Given the description of an element on the screen output the (x, y) to click on. 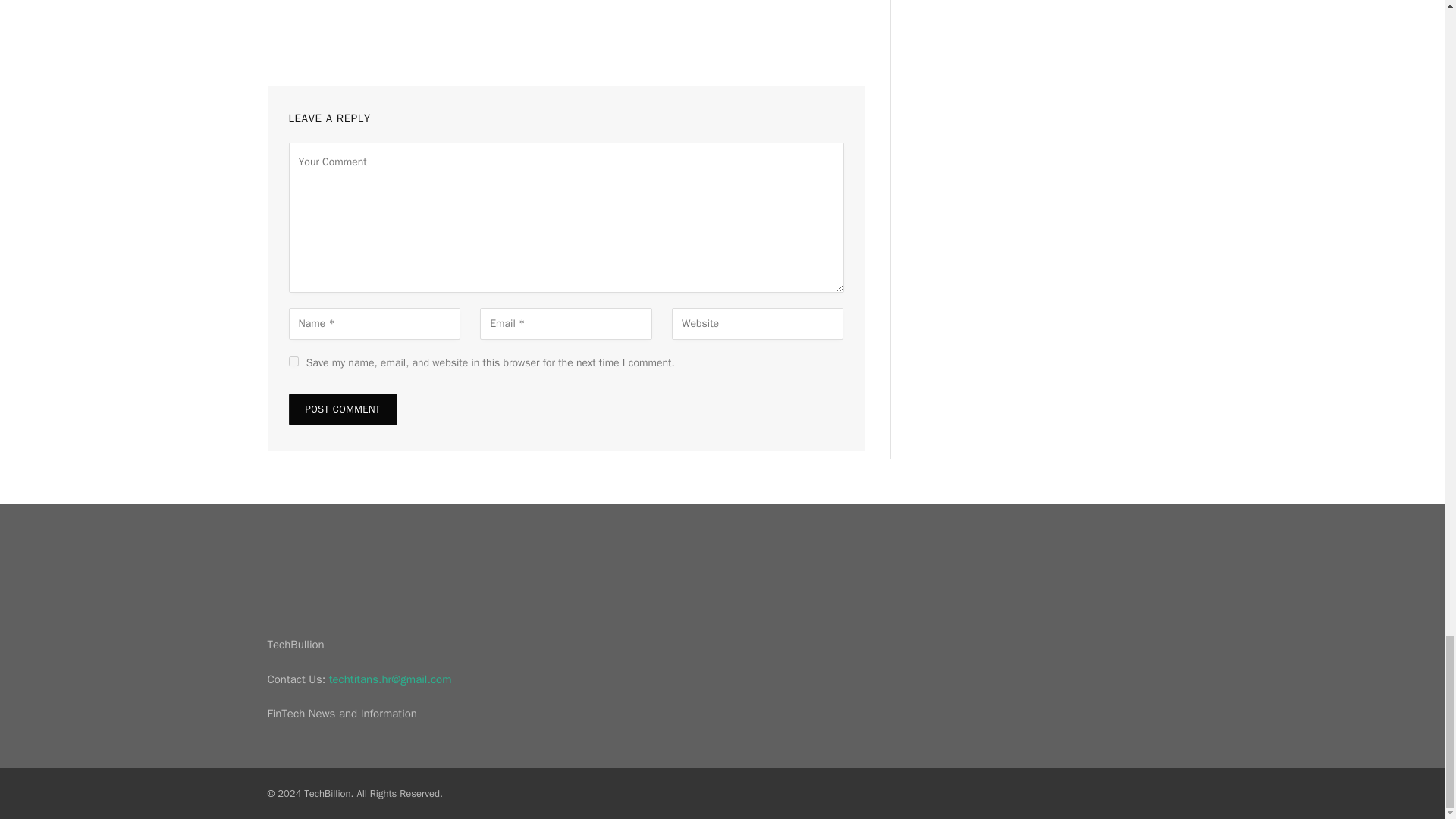
Post Comment (342, 409)
Post Comment (342, 409)
yes (293, 361)
